Given the description of an element on the screen output the (x, y) to click on. 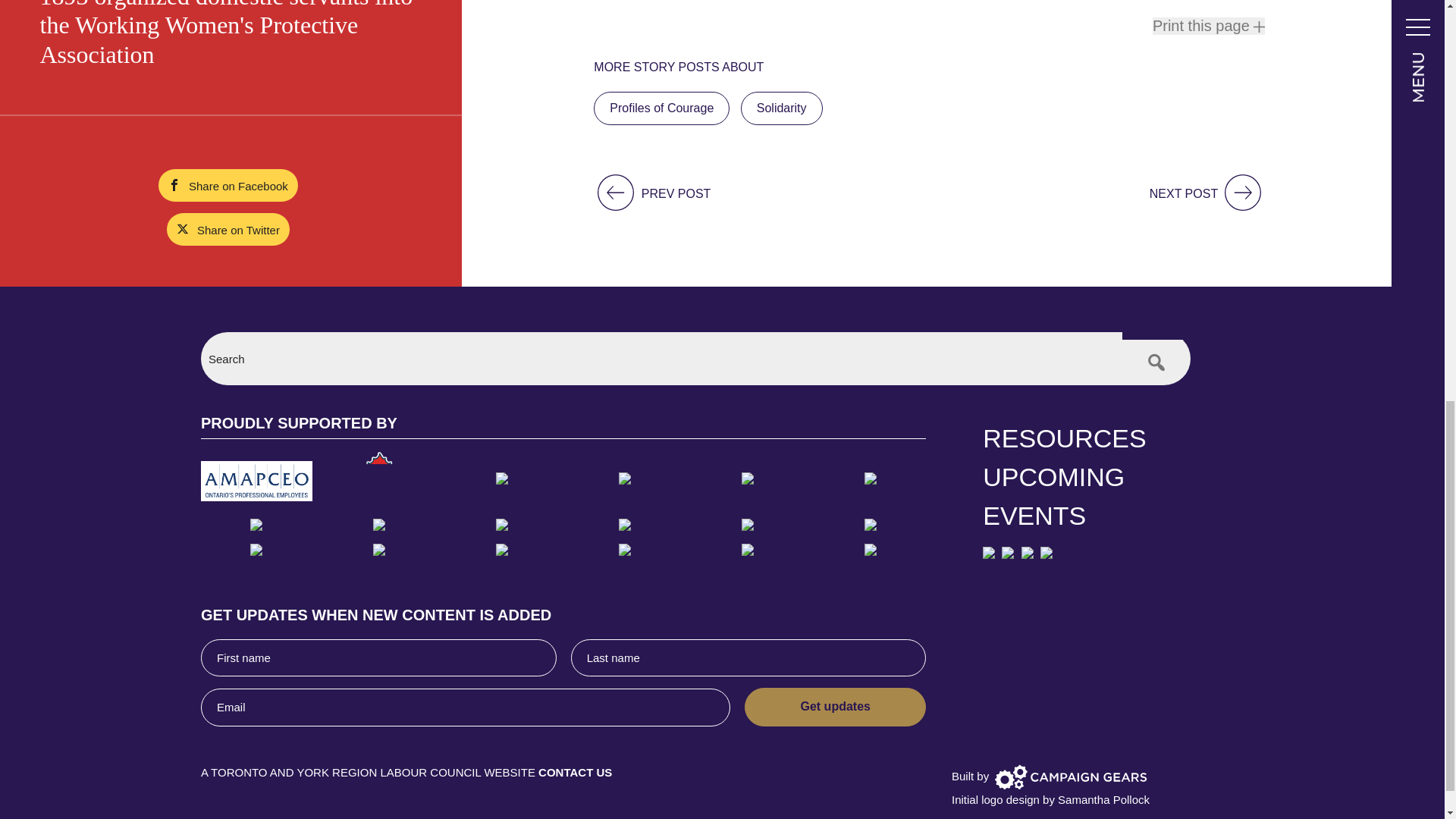
UPCOMING EVENTS (1086, 496)
NEXT POST (1207, 193)
Get updates (835, 706)
Print this page (1209, 26)
Solidarity (781, 108)
Campaign Gears (1070, 775)
PREV POST (652, 193)
Get updates (835, 706)
CONTACT US (574, 771)
RESOURCES (1086, 438)
